Given the description of an element on the screen output the (x, y) to click on. 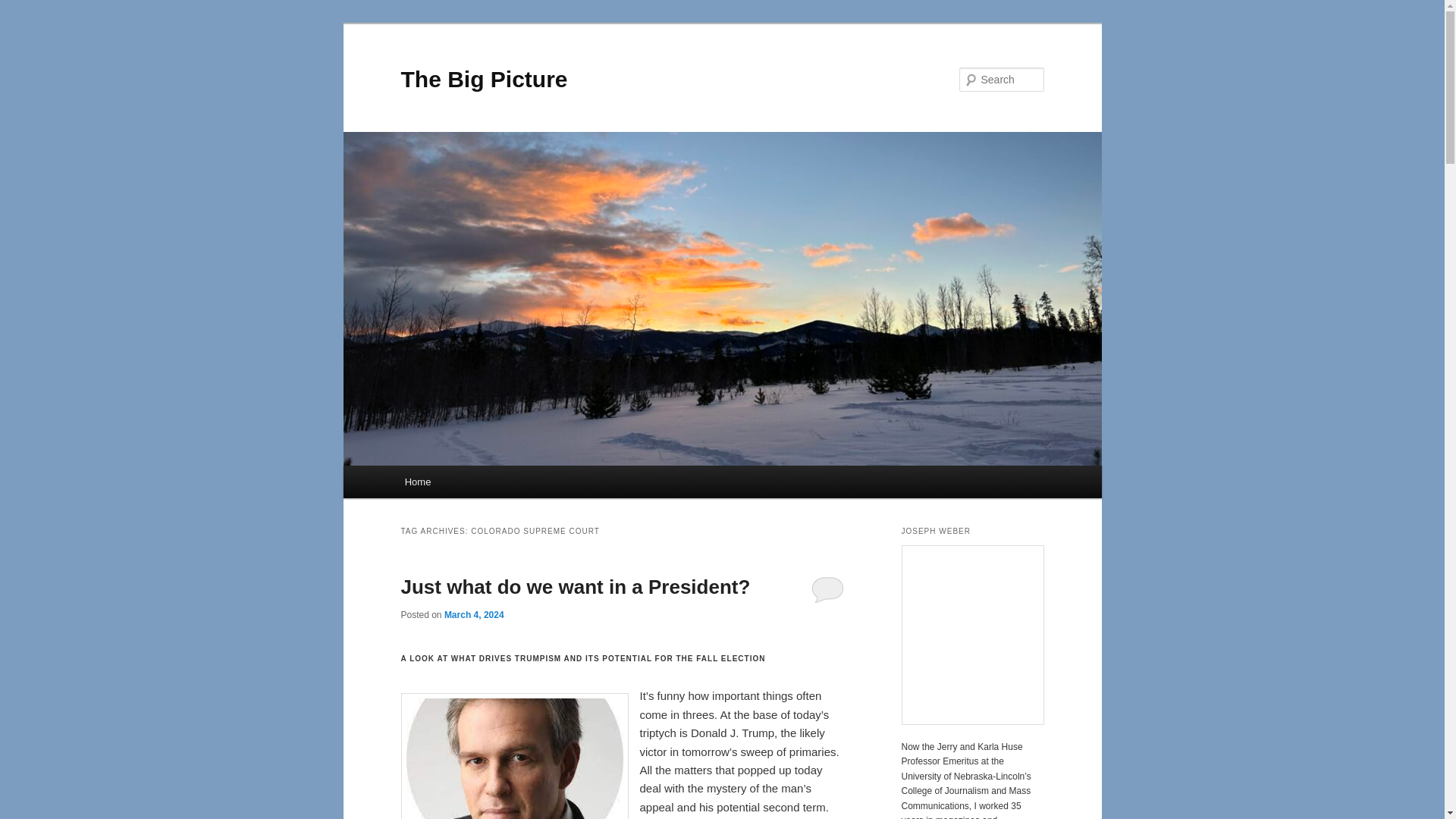
Just what do we want in a President? (574, 586)
Home (417, 481)
The Big Picture (483, 78)
Search (24, 8)
5:39 pm (473, 614)
March 4, 2024 (473, 614)
